Given the description of an element on the screen output the (x, y) to click on. 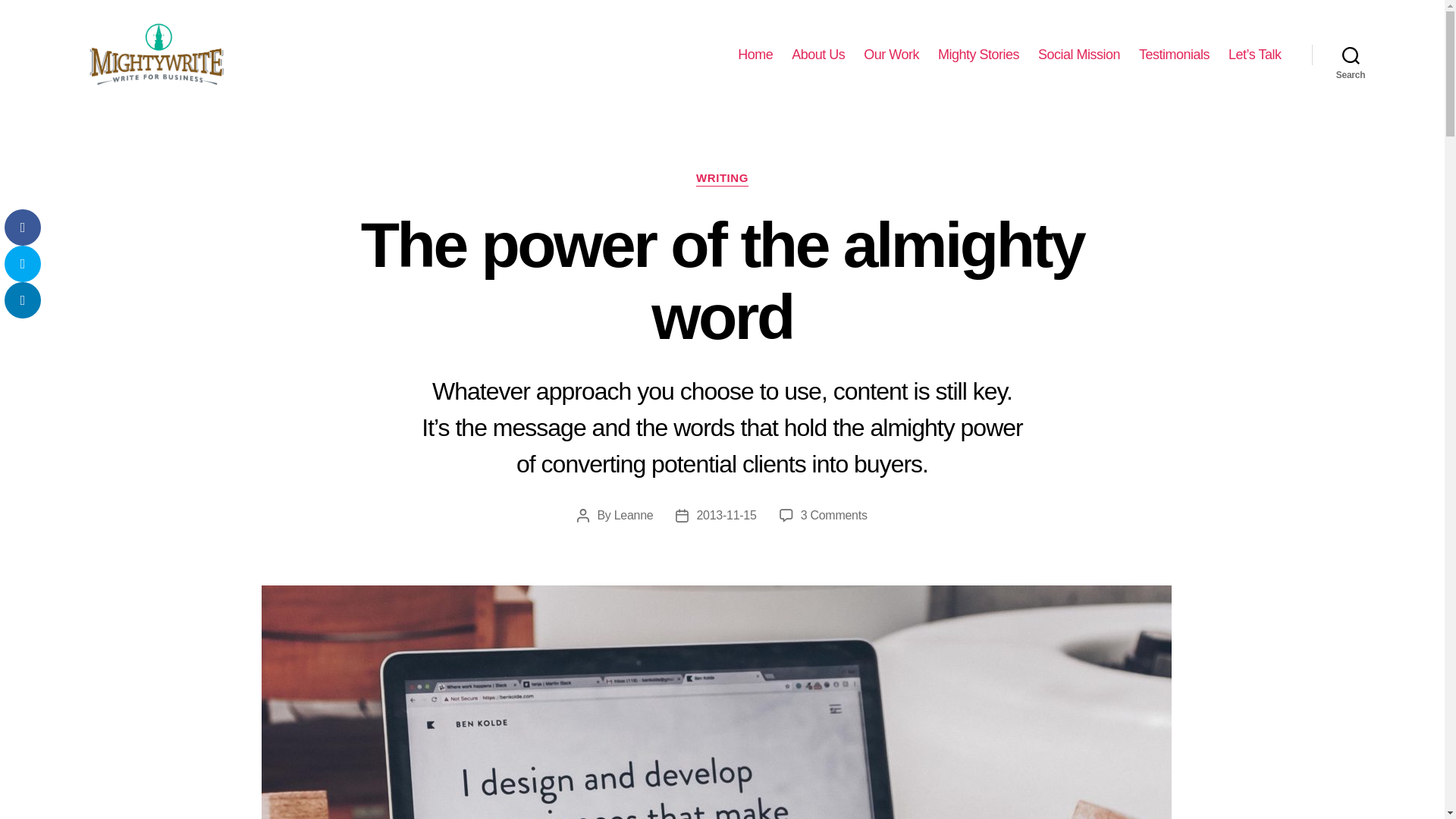
Leanne (633, 514)
Search (833, 514)
Our Work (1350, 55)
WRITING (890, 54)
About Us (721, 178)
Home (818, 54)
2013-11-15 (755, 54)
Mighty Stories (725, 514)
Social Mission (978, 54)
Testimonials (1078, 54)
